Given the description of an element on the screen output the (x, y) to click on. 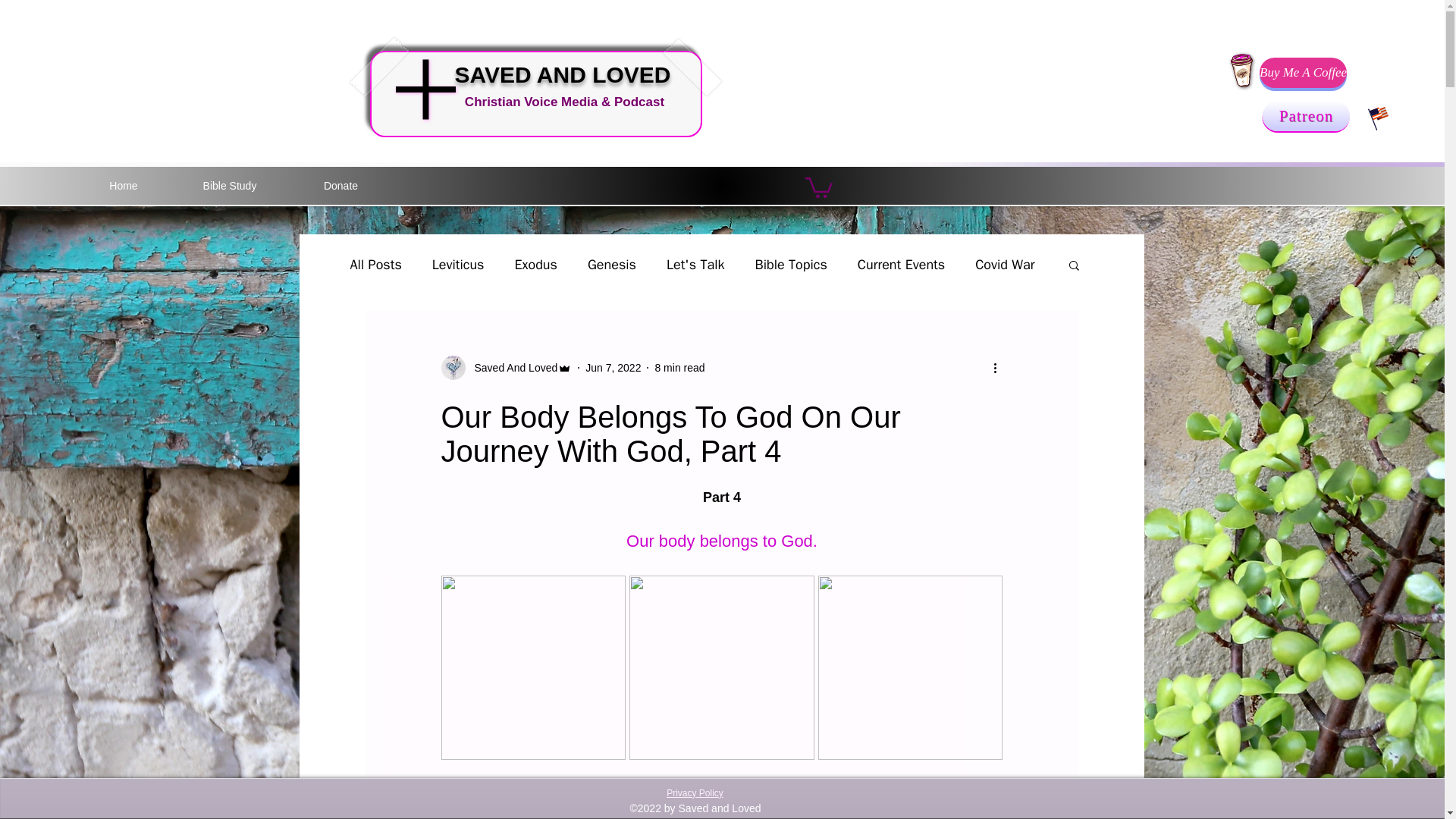
Buy Me A Coffee (1302, 72)
Bible Study (228, 185)
Exodus (534, 264)
Patreon (1305, 115)
Genesis (612, 264)
SAVED AND LOVED (561, 74)
Donate (340, 185)
Home (123, 185)
All Posts (375, 264)
Current Events (900, 264)
Bible Topics (791, 264)
Covid War (1004, 264)
Jun 7, 2022 (612, 367)
Leviticus (458, 264)
Saved And Loved (511, 367)
